Given the description of an element on the screen output the (x, y) to click on. 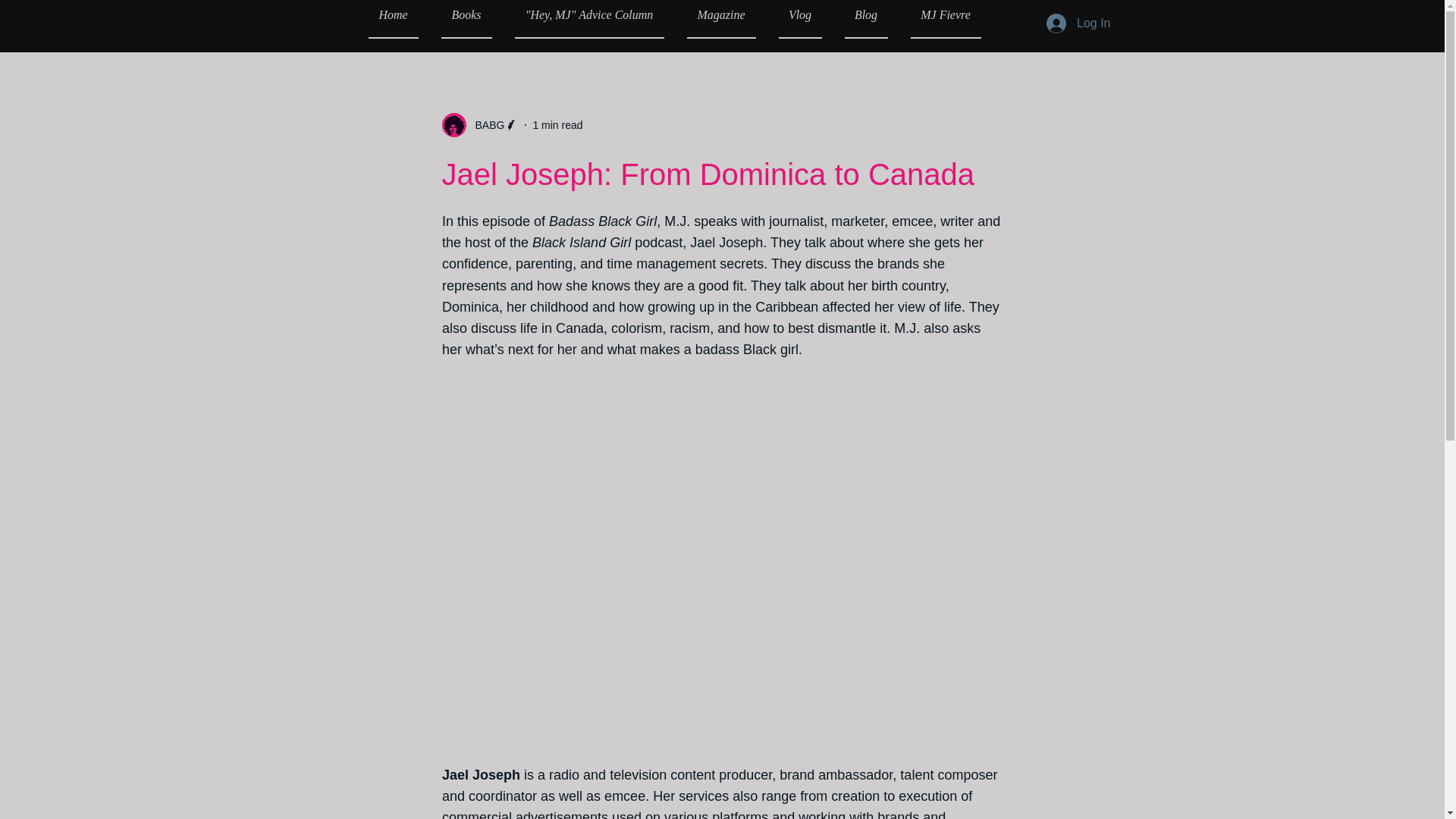
Log In (1078, 23)
Blog (865, 19)
BABG (479, 125)
Vlog (799, 19)
1 min read (557, 123)
ricos-video (722, 461)
BABG (484, 124)
"Hey, MJ" Advice Column (589, 19)
Home (398, 19)
